Given the description of an element on the screen output the (x, y) to click on. 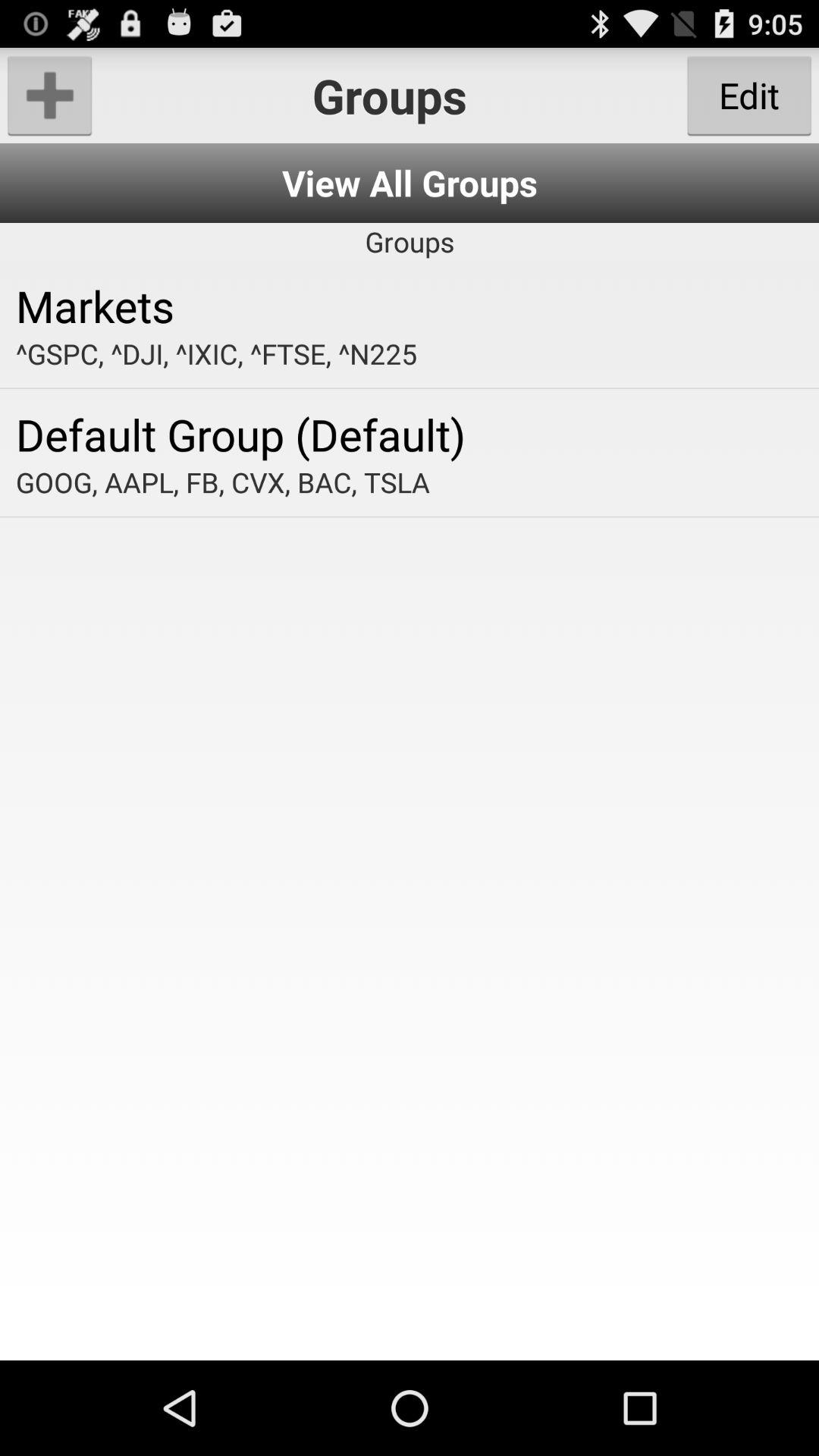
tap the gspc dji ixic item (409, 353)
